Given the description of an element on the screen output the (x, y) to click on. 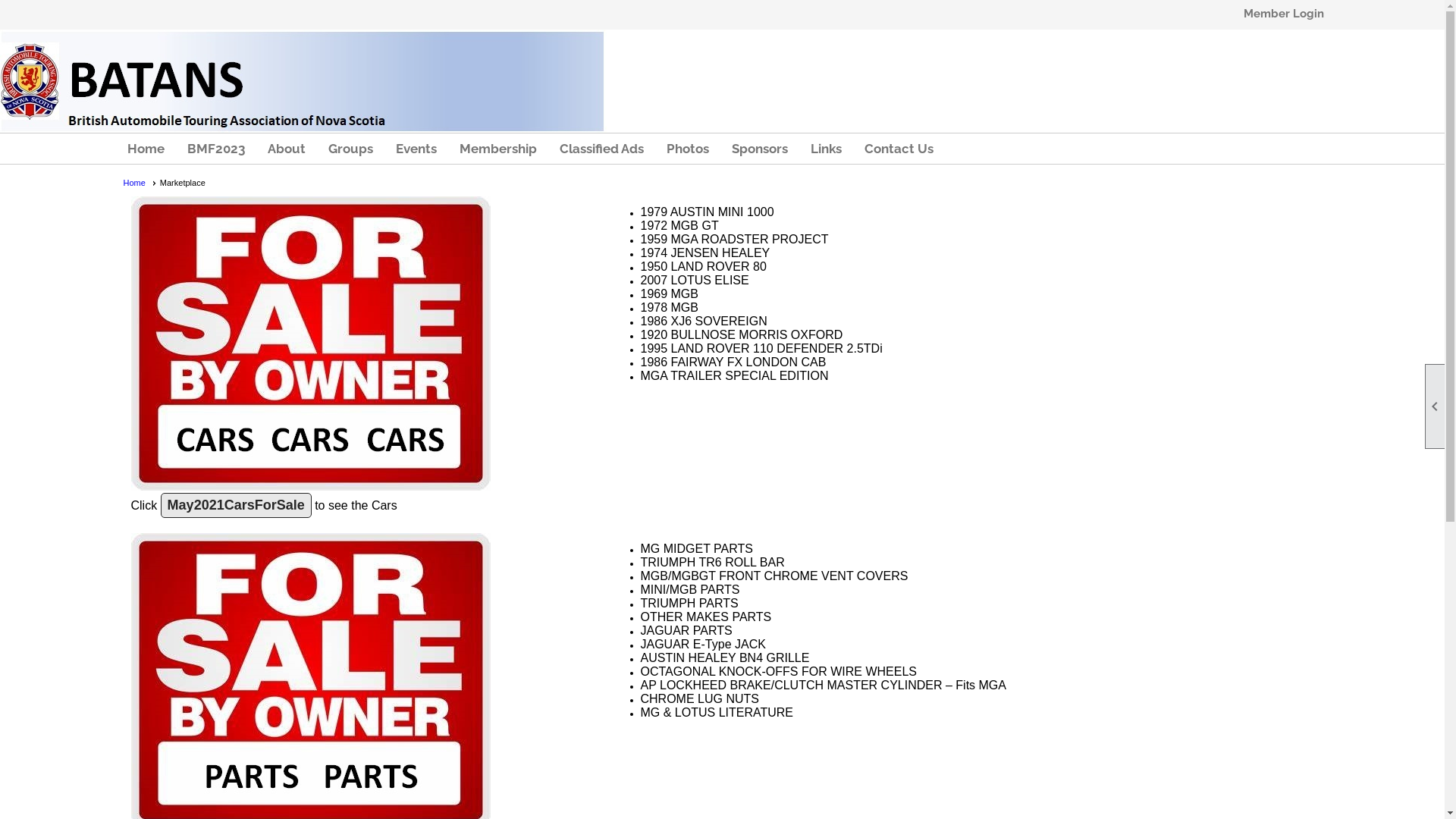
May2021CarsForSale Element type: text (235, 504)
Links Element type: text (825, 148)
Events Element type: text (416, 148)
Home Element type: text (138, 182)
Photos Element type: text (686, 148)
Contact Us Element type: text (898, 148)
Home Element type: text (145, 148)
Classified Ads Element type: text (601, 148)
Sponsors Element type: text (758, 148)
Member Login Element type: text (1283, 13)
About Element type: text (285, 148)
BMF2023 Element type: text (214, 148)
Membership Element type: text (497, 148)
Groups Element type: text (349, 148)
